Given the description of an element on the screen output the (x, y) to click on. 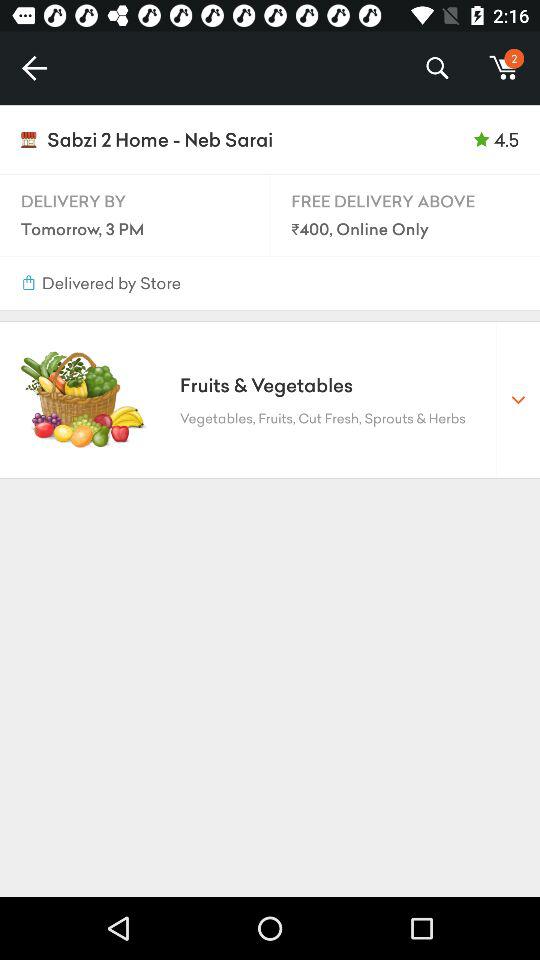
select the item next to m icon (436, 67)
